Given the description of an element on the screen output the (x, y) to click on. 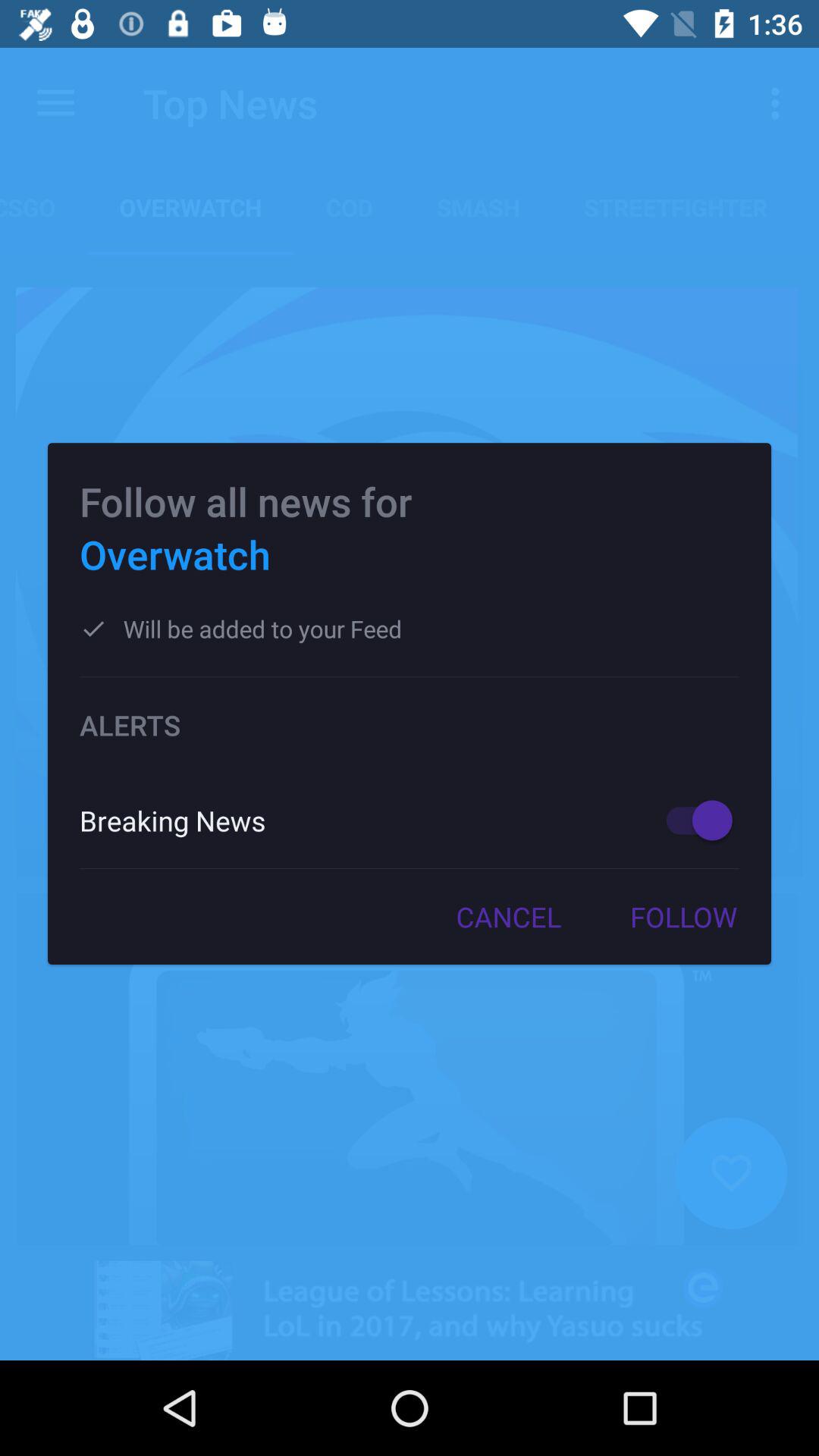
open the cancel item (508, 916)
